Given the description of an element on the screen output the (x, y) to click on. 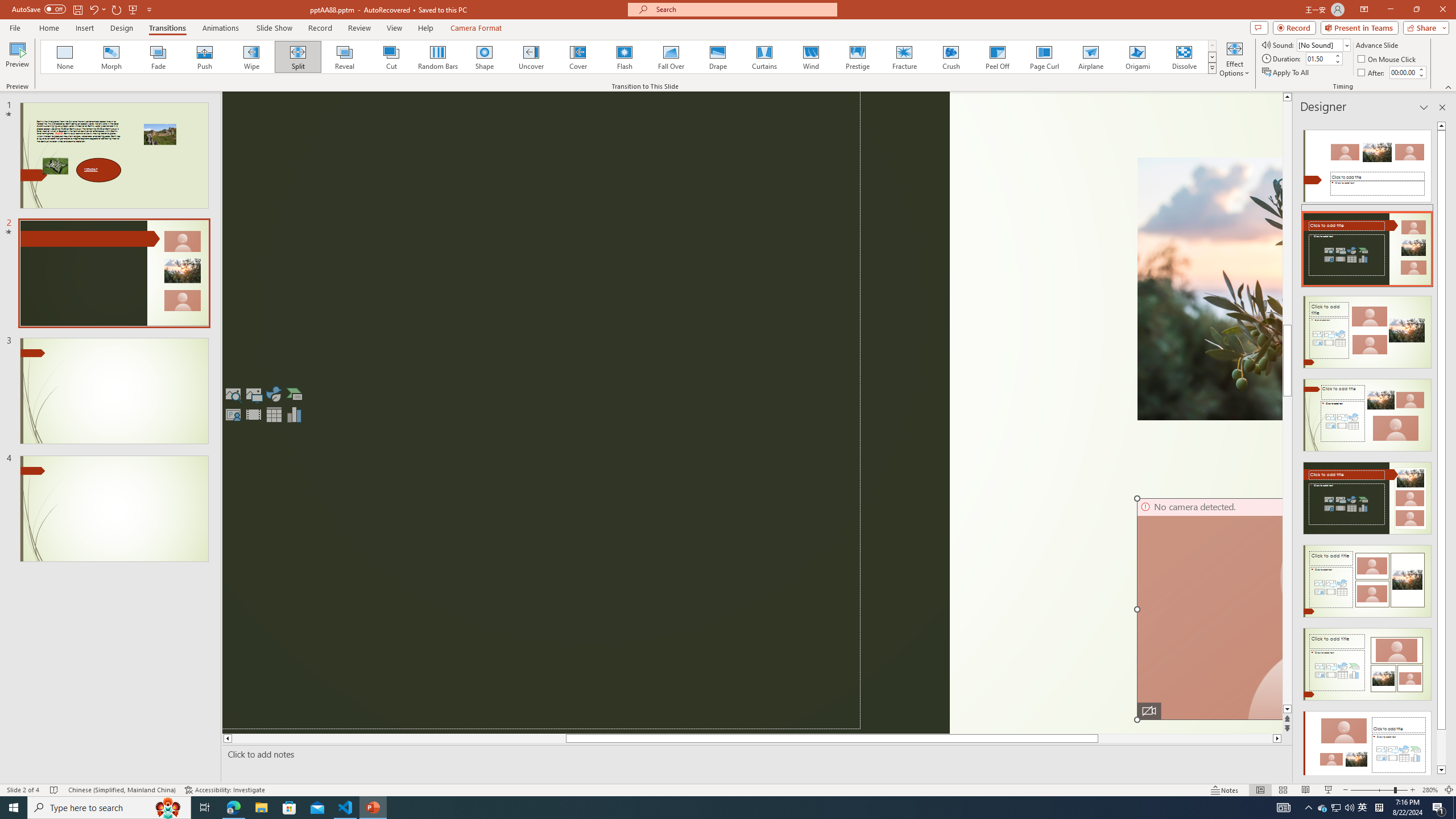
Shape (484, 56)
Zoom 280% (1430, 790)
Page Curl (1043, 56)
Origami (1136, 56)
Wind (810, 56)
Morph (111, 56)
Page down (1287, 570)
Insert a SmartArt Graphic (294, 393)
Class: NetUIImage (1211, 68)
On Mouse Click (1387, 58)
